Given the description of an element on the screen output the (x, y) to click on. 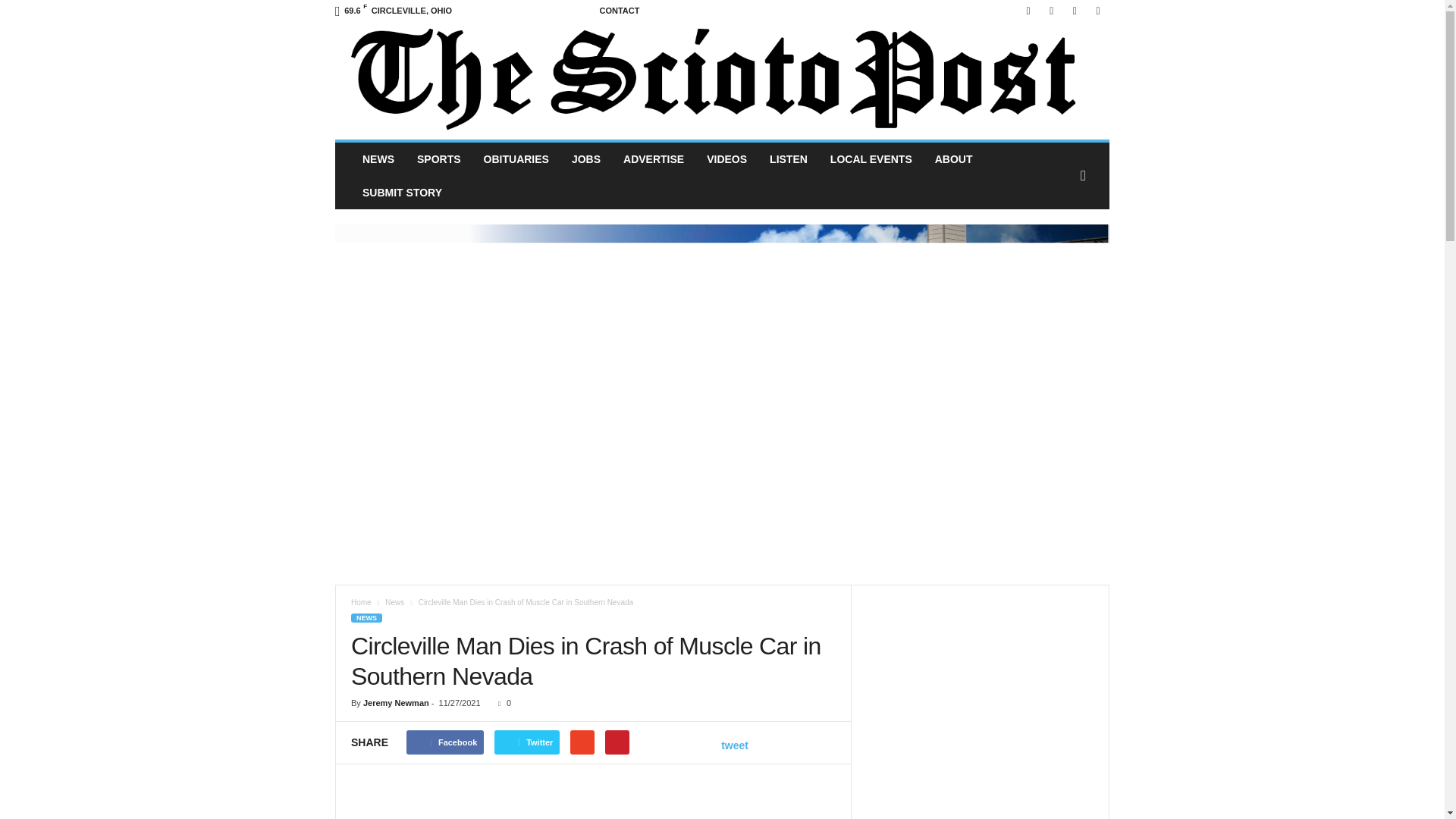
LOCAL EVENTS (870, 159)
View all posts in News (394, 602)
LISTEN (788, 159)
SPORTS (438, 159)
Youtube (1097, 11)
OBITUARIES (515, 159)
Facebook (1027, 11)
Twitter (1074, 11)
ADVERTISE (653, 159)
VIDEOS (726, 159)
NEWS (378, 159)
CONTACT (618, 10)
JOBS (585, 159)
Instagram (1051, 11)
Scioto Post (721, 80)
